Given the description of an element on the screen output the (x, y) to click on. 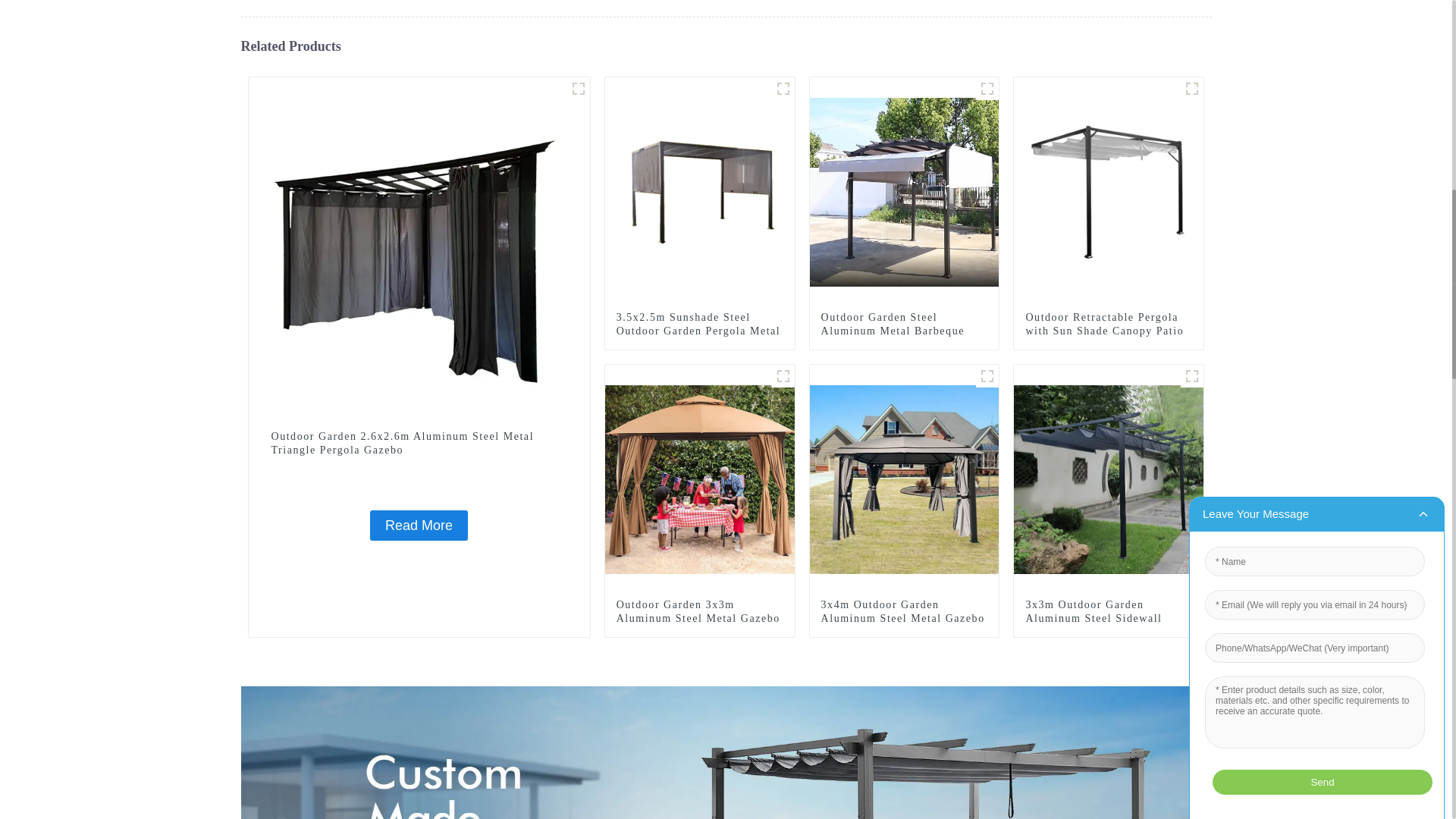
p19 (578, 87)
p14 (782, 87)
510 (1192, 87)
Read More (418, 525)
c09ed66528e3510f2b7a2e957ca8607 (986, 87)
